Given the description of an element on the screen output the (x, y) to click on. 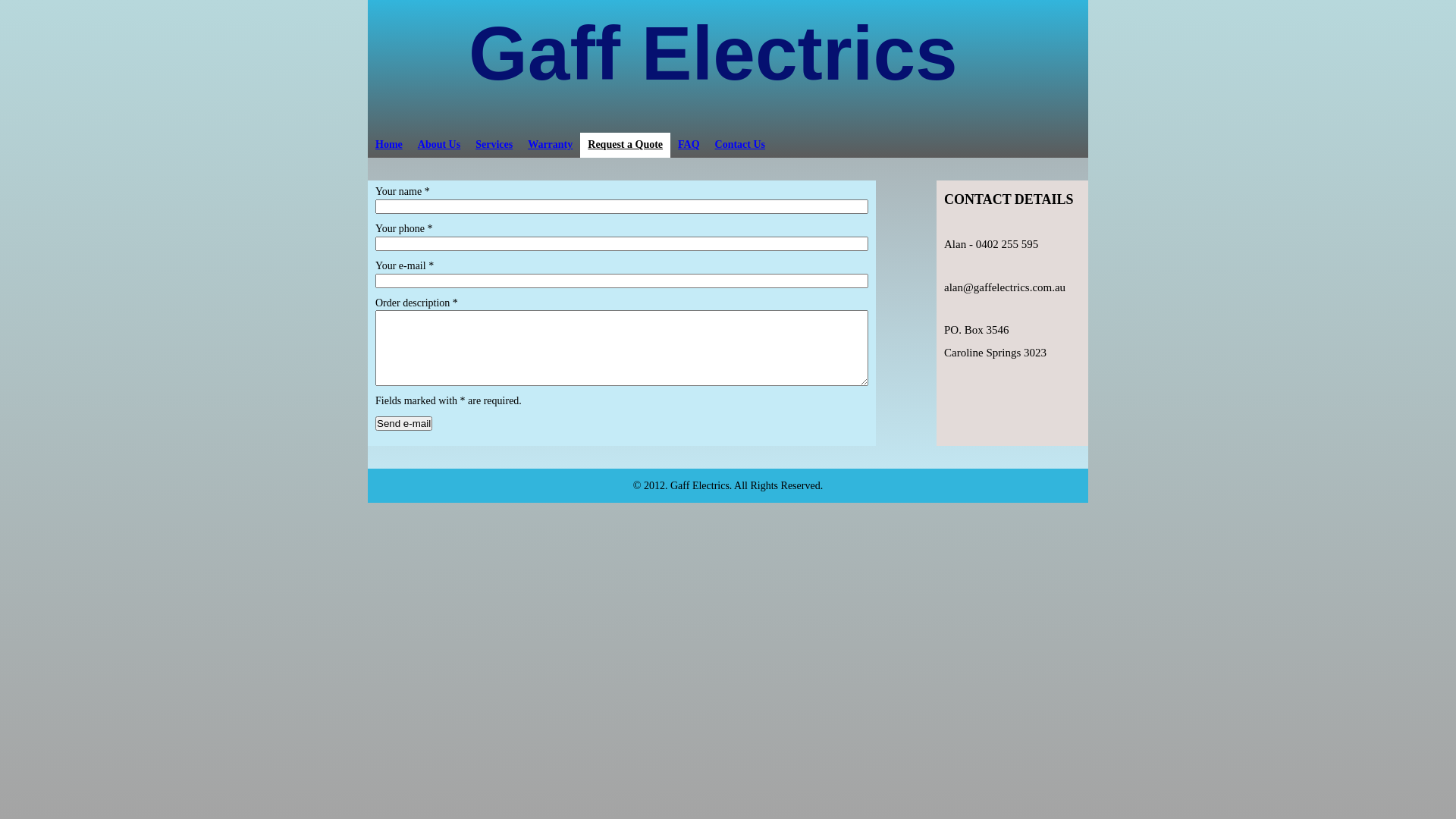
Services Element type: text (493, 144)
About Us Element type: text (438, 144)
Warranty Element type: text (550, 144)
Home Element type: text (388, 144)
Send e-mail Element type: text (403, 423)
Contact Us Element type: text (740, 144)
FAQ Element type: text (688, 144)
Gaff Electrics Element type: text (712, 52)
Request a Quote Element type: text (625, 144)
